Given the description of an element on the screen output the (x, y) to click on. 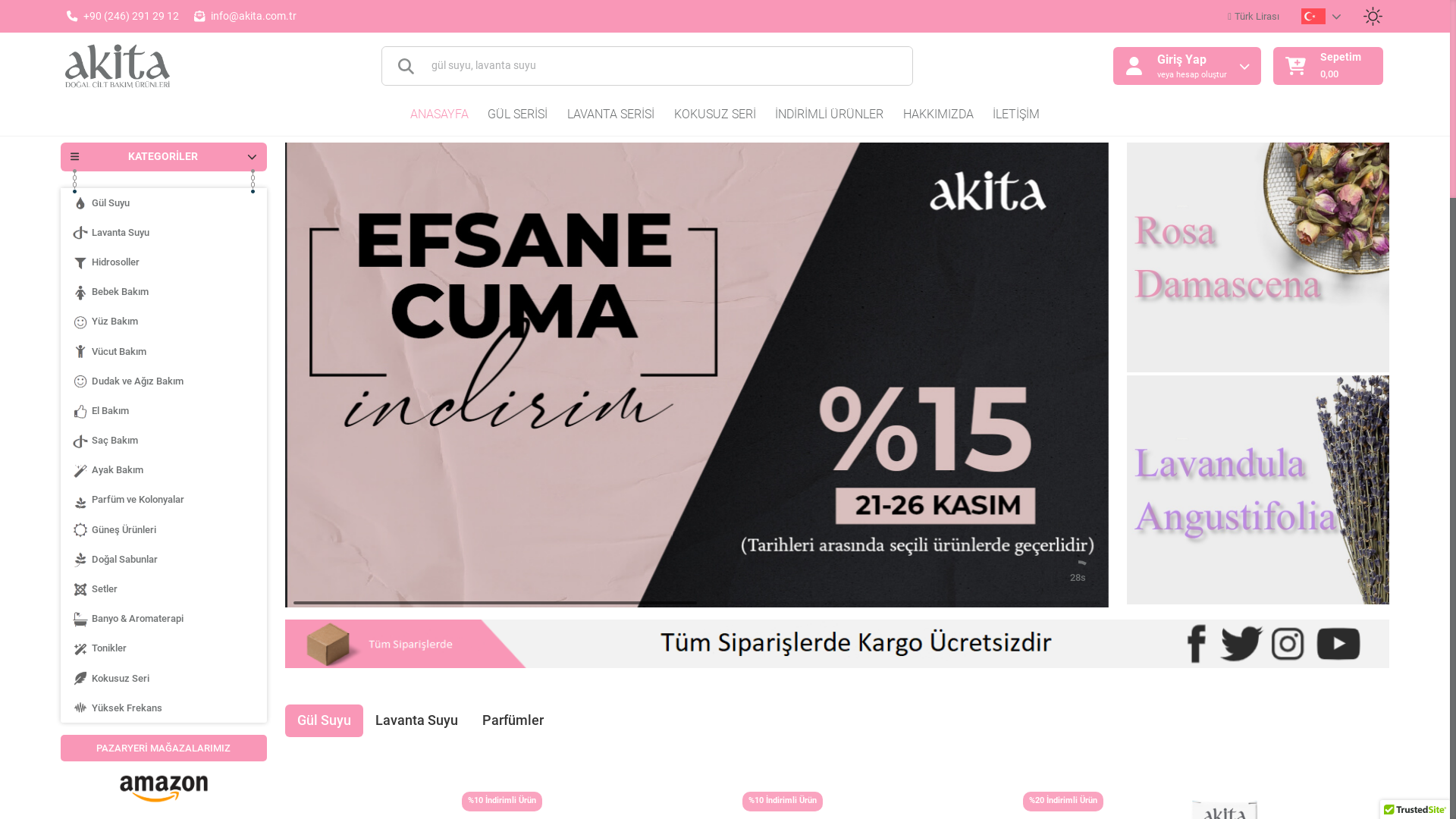
Sepetim
0,00 Element type: text (1328, 65)
EFSANE CUMA Element type: hover (696, 374)
HAKKIMIZDA Element type: text (938, 114)
KOKUSUZ SERI Element type: text (714, 114)
info@akita.com.tr Element type: text (253, 16)
Lavanta Suyu Element type: text (163, 232)
Banyo & Aromaterapi Element type: text (163, 618)
Kokusuz Seri Element type: text (163, 678)
Tonikler Element type: text (163, 647)
Lavanta Suyu Element type: text (416, 720)
+90 (246) 291 29 12 Element type: text (130, 16)
Setler Element type: text (163, 588)
LAVANTA SERISI Element type: text (610, 114)
Hidrosoller Element type: text (163, 261)
ANASAYFA Element type: text (439, 114)
